Given the description of an element on the screen output the (x, y) to click on. 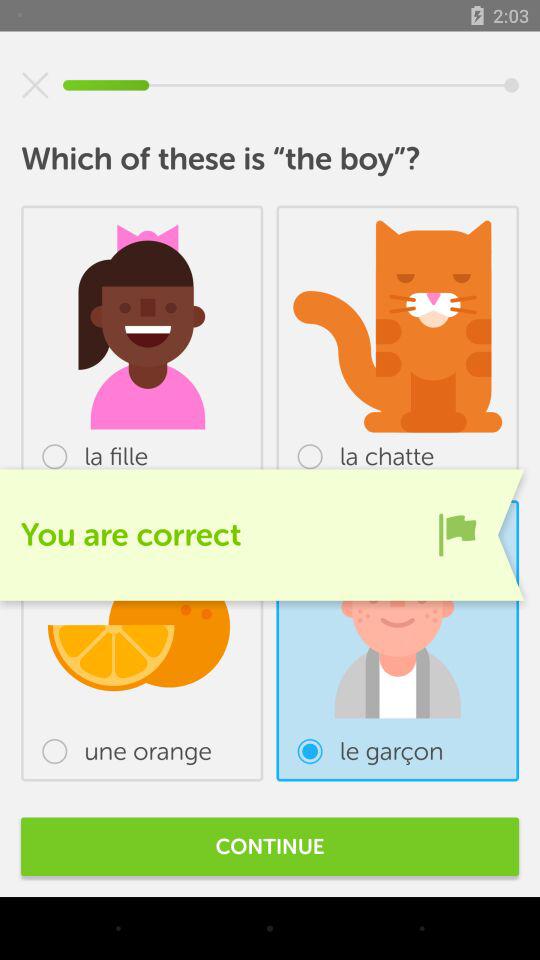
tap the item at the top left corner (35, 85)
